Given the description of an element on the screen output the (x, y) to click on. 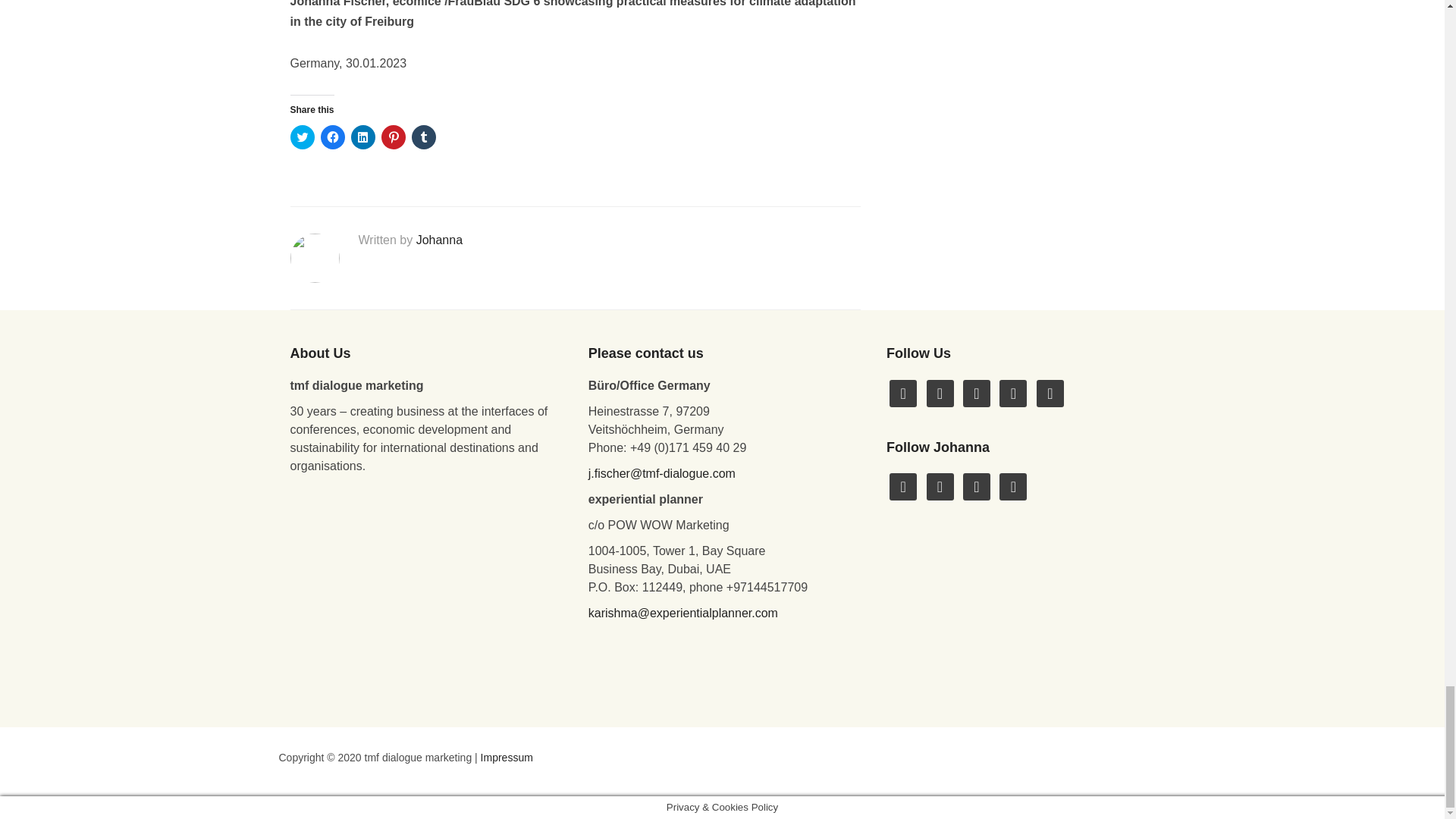
Friend me on Facebook (903, 391)
Click to share on LinkedIn (362, 137)
Click to share on Facebook (331, 137)
instagram (976, 391)
Click to share on Pinterest (392, 137)
facebook (903, 391)
Johanna (439, 239)
Click to share on Twitter (301, 137)
Posts by Johanna (439, 239)
Click to share on Tumblr (422, 137)
